Given the description of an element on the screen output the (x, y) to click on. 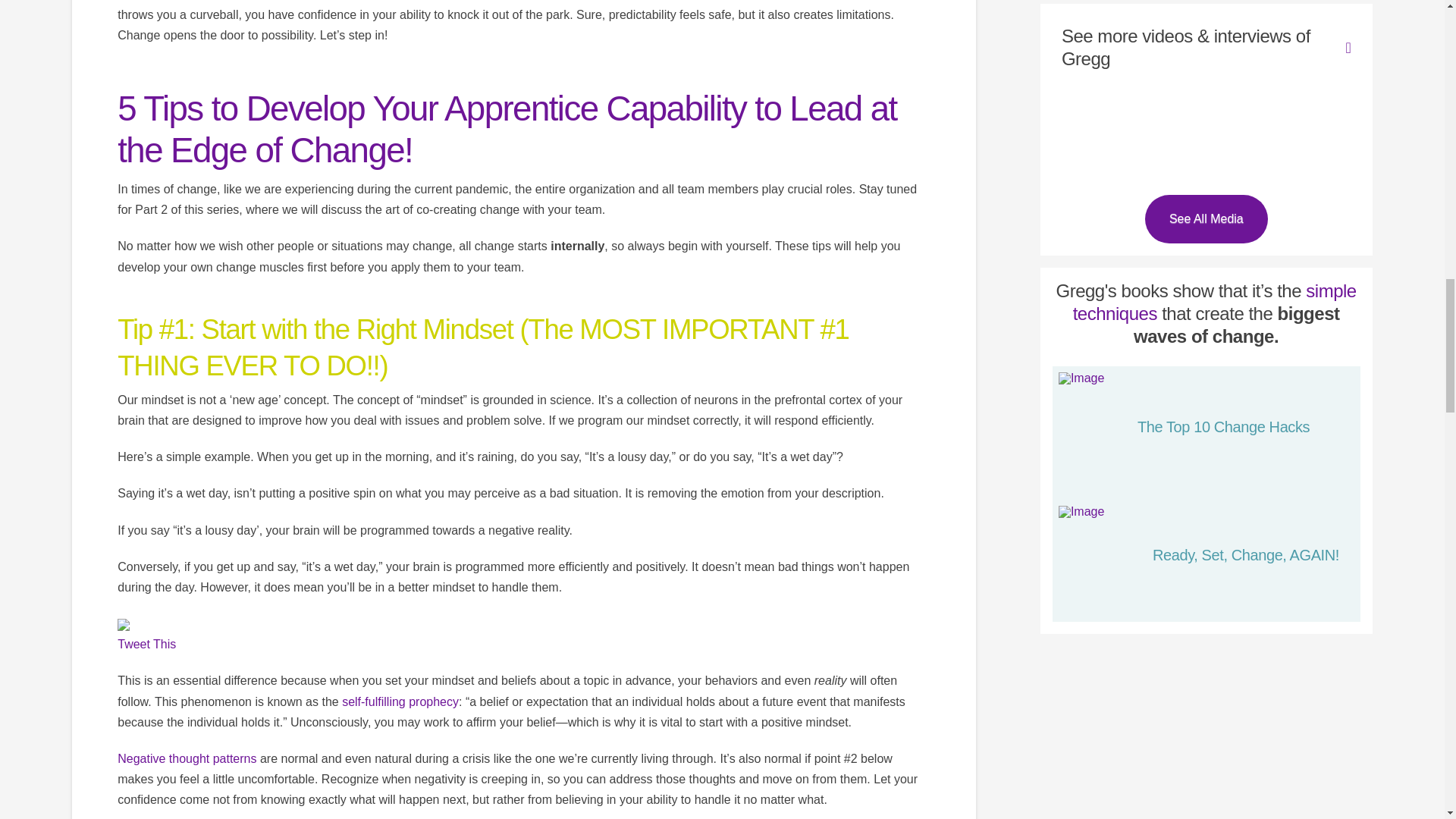
Tweet This (146, 644)
Negative thought patterns (186, 758)
self-fulfilling prophecy (400, 701)
